Given the description of an element on the screen output the (x, y) to click on. 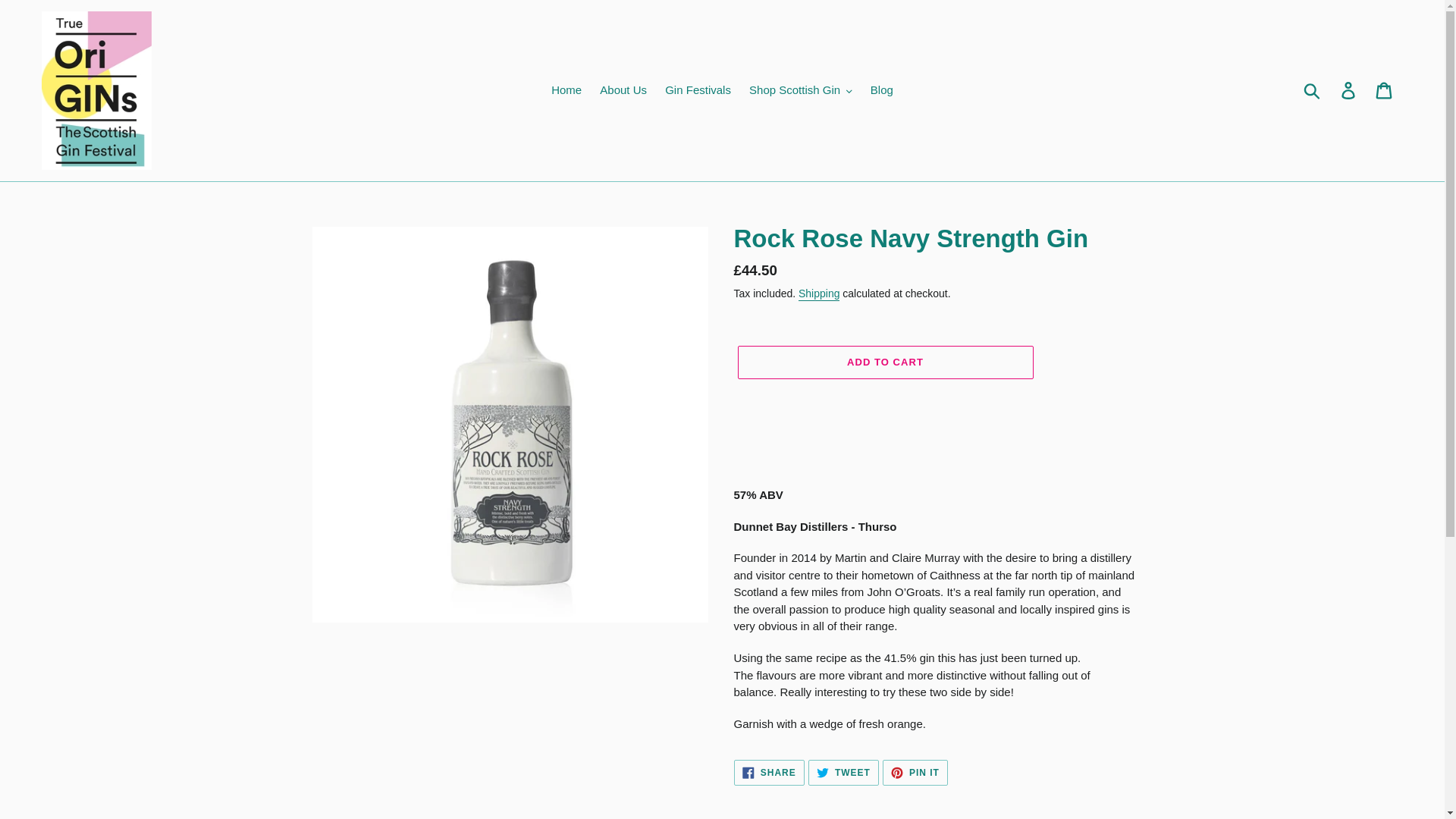
Cart (1385, 90)
Log in (1349, 90)
Blog (882, 90)
Gin Festivals (698, 90)
Submit (1313, 90)
Home (566, 90)
About Us (622, 90)
